Given the description of an element on the screen output the (x, y) to click on. 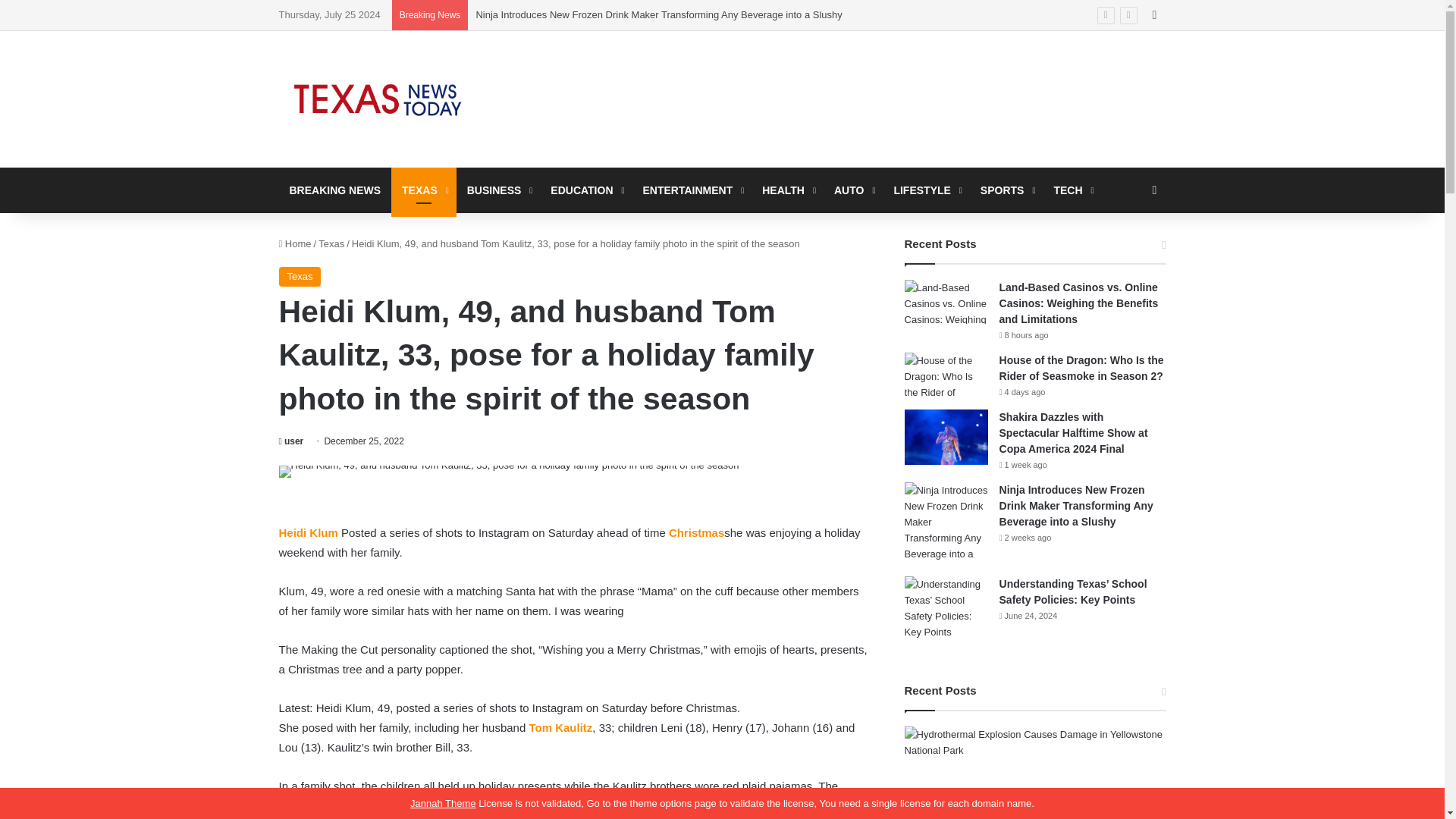
Texas (300, 276)
SPORTS (1006, 189)
BREAKING NEWS (335, 189)
Texasnewstoday.com (377, 99)
user (291, 440)
user (291, 440)
Jannah Theme (443, 803)
LIFESTYLE (925, 189)
Texas (330, 243)
AUTO (853, 189)
TECH (1071, 189)
ENTERTAINMENT (691, 189)
Home (295, 243)
TEXAS (424, 189)
